Given the description of an element on the screen output the (x, y) to click on. 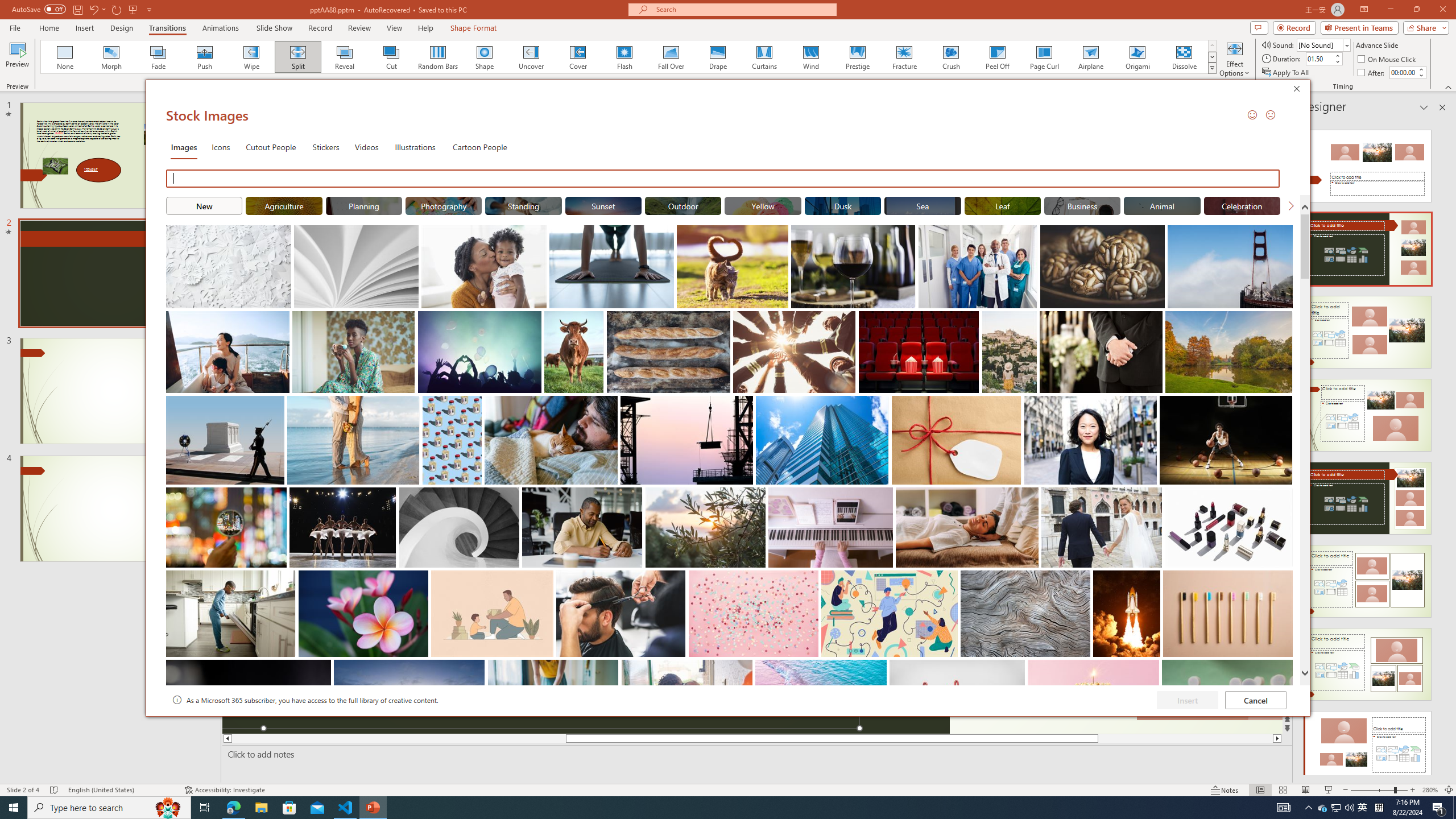
"Photography" Stock Images. (443, 205)
Split (298, 56)
Illustrations (415, 146)
Wind (810, 56)
"Sunset" Stock Images. (603, 205)
Transition Effects (1212, 67)
Apply To All (1286, 72)
